Given the description of an element on the screen output the (x, y) to click on. 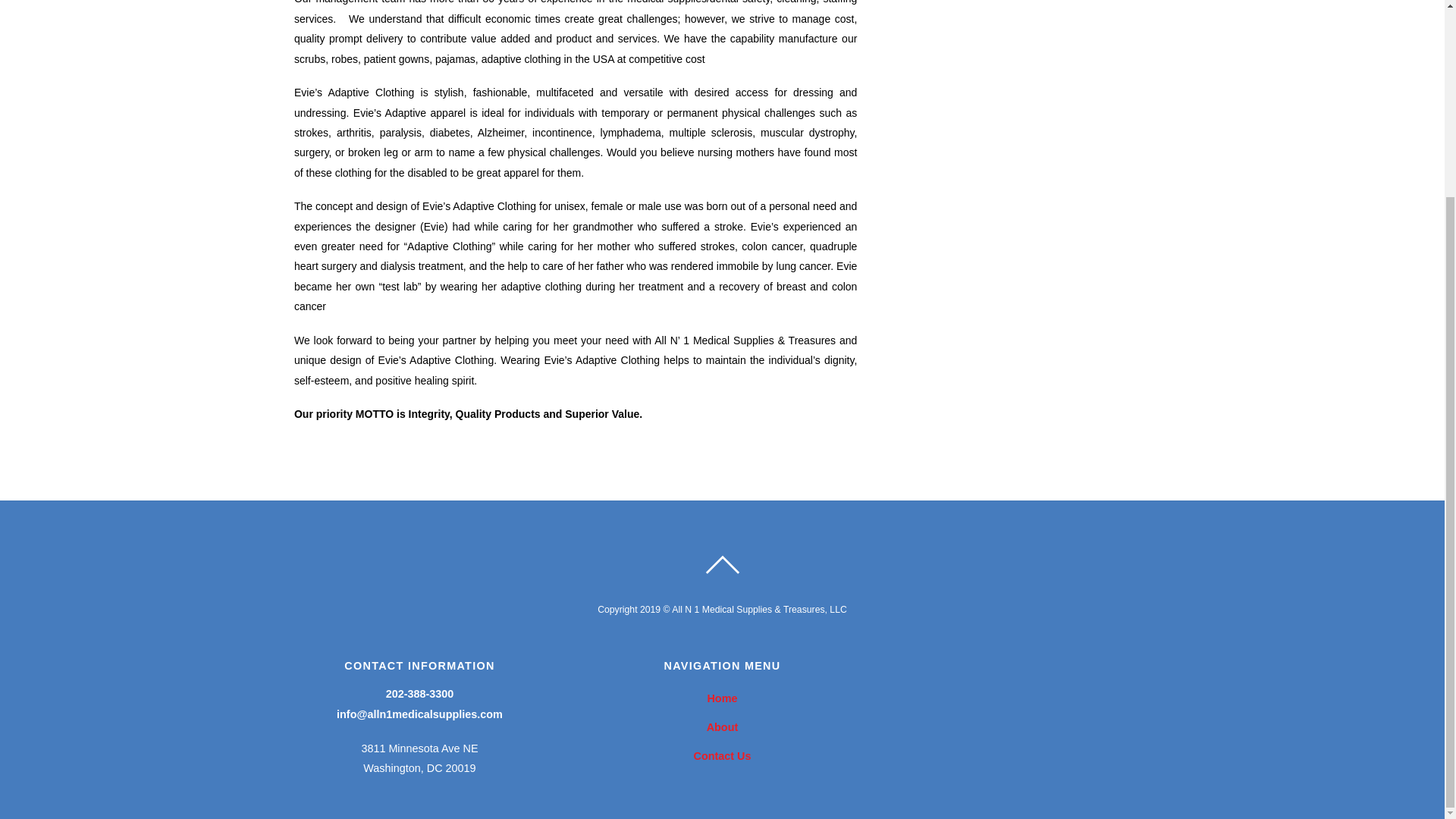
Home (721, 698)
About (722, 727)
Contact Us (722, 756)
